Given the description of an element on the screen output the (x, y) to click on. 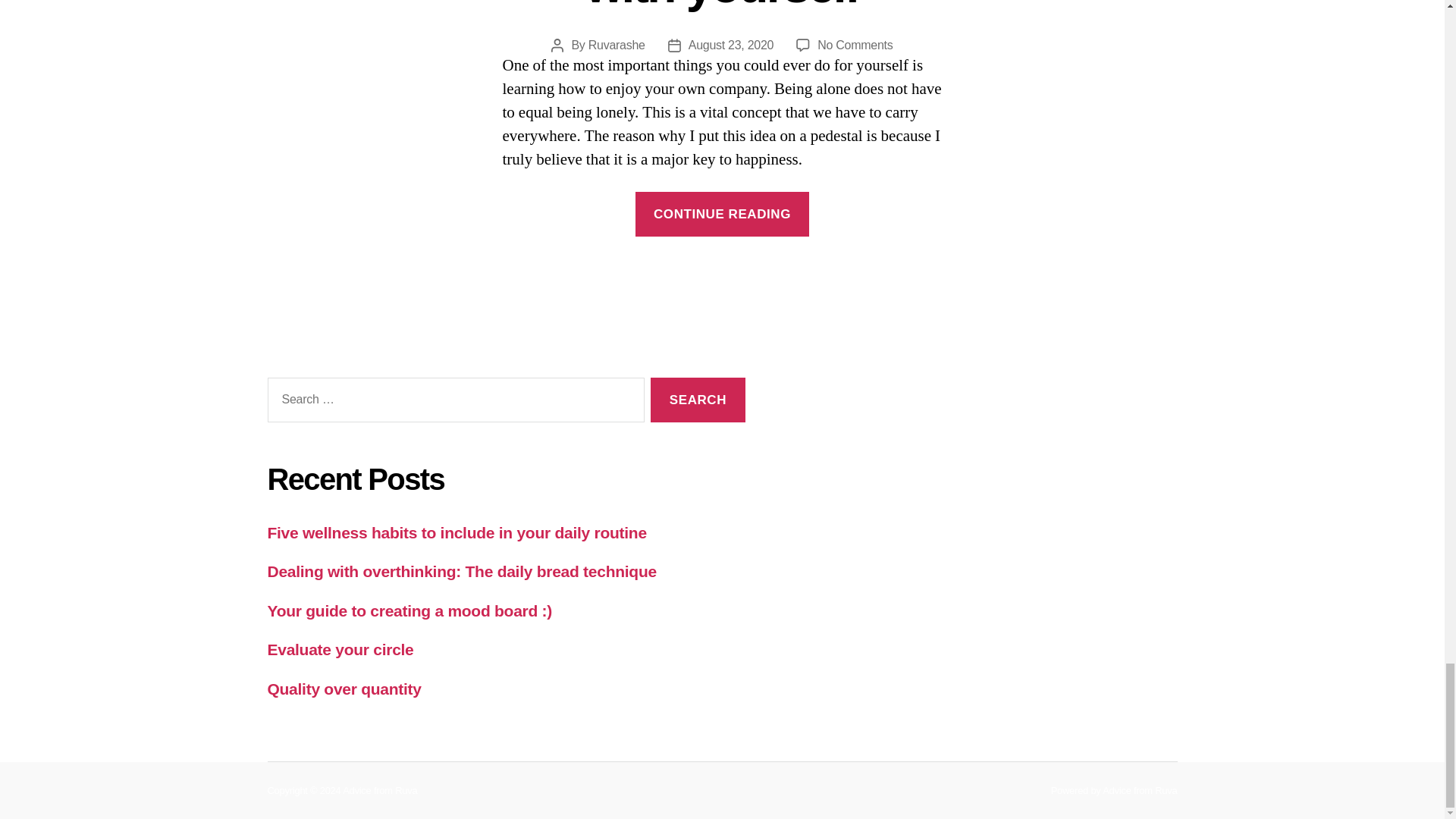
Search (697, 399)
Search (697, 399)
